Given the description of an element on the screen output the (x, y) to click on. 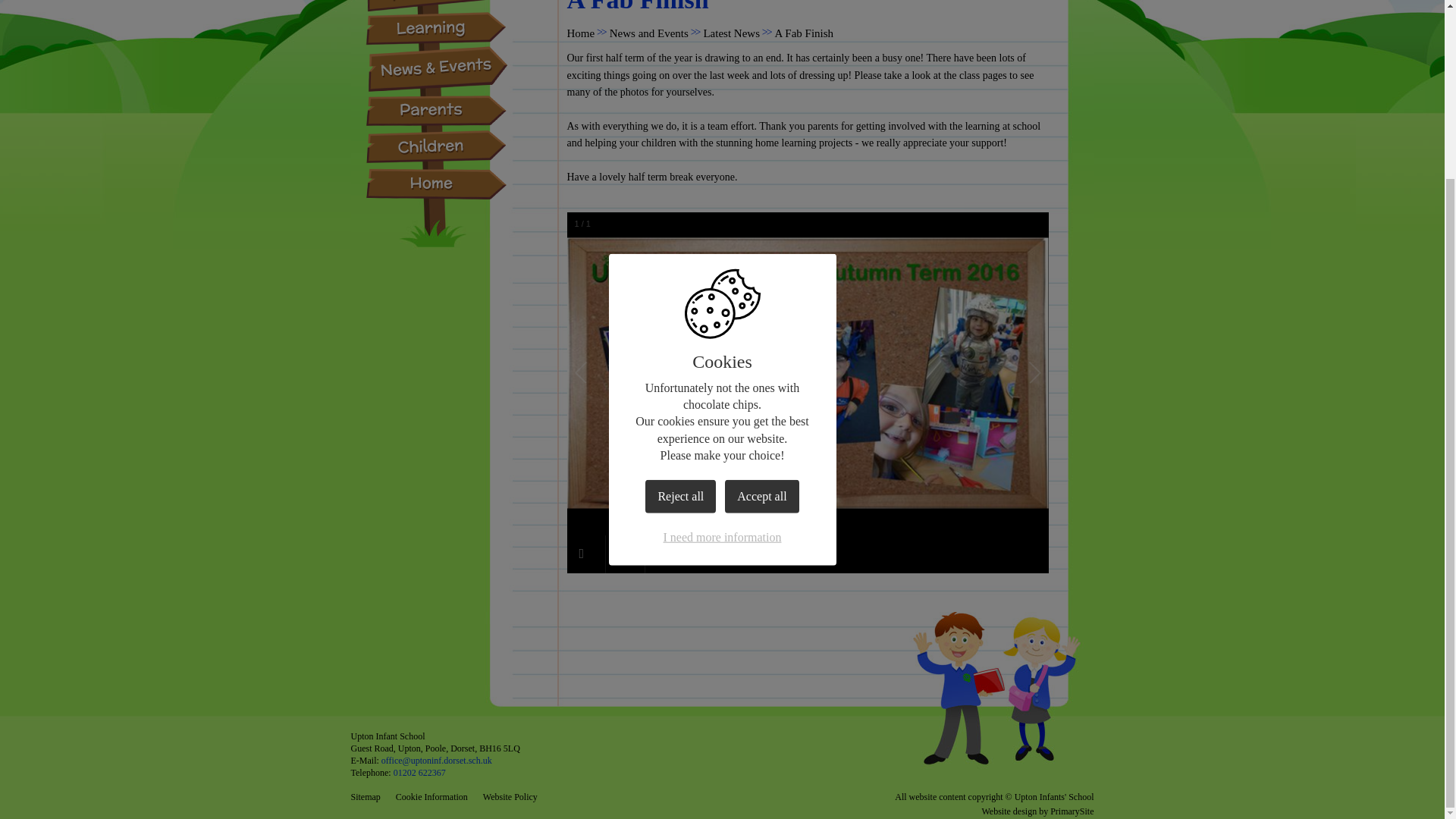
Learning (436, 28)
A Fab Finish (804, 33)
About Us (436, 6)
Latest News (731, 33)
News and Events (649, 33)
Home (581, 33)
